Given the description of an element on the screen output the (x, y) to click on. 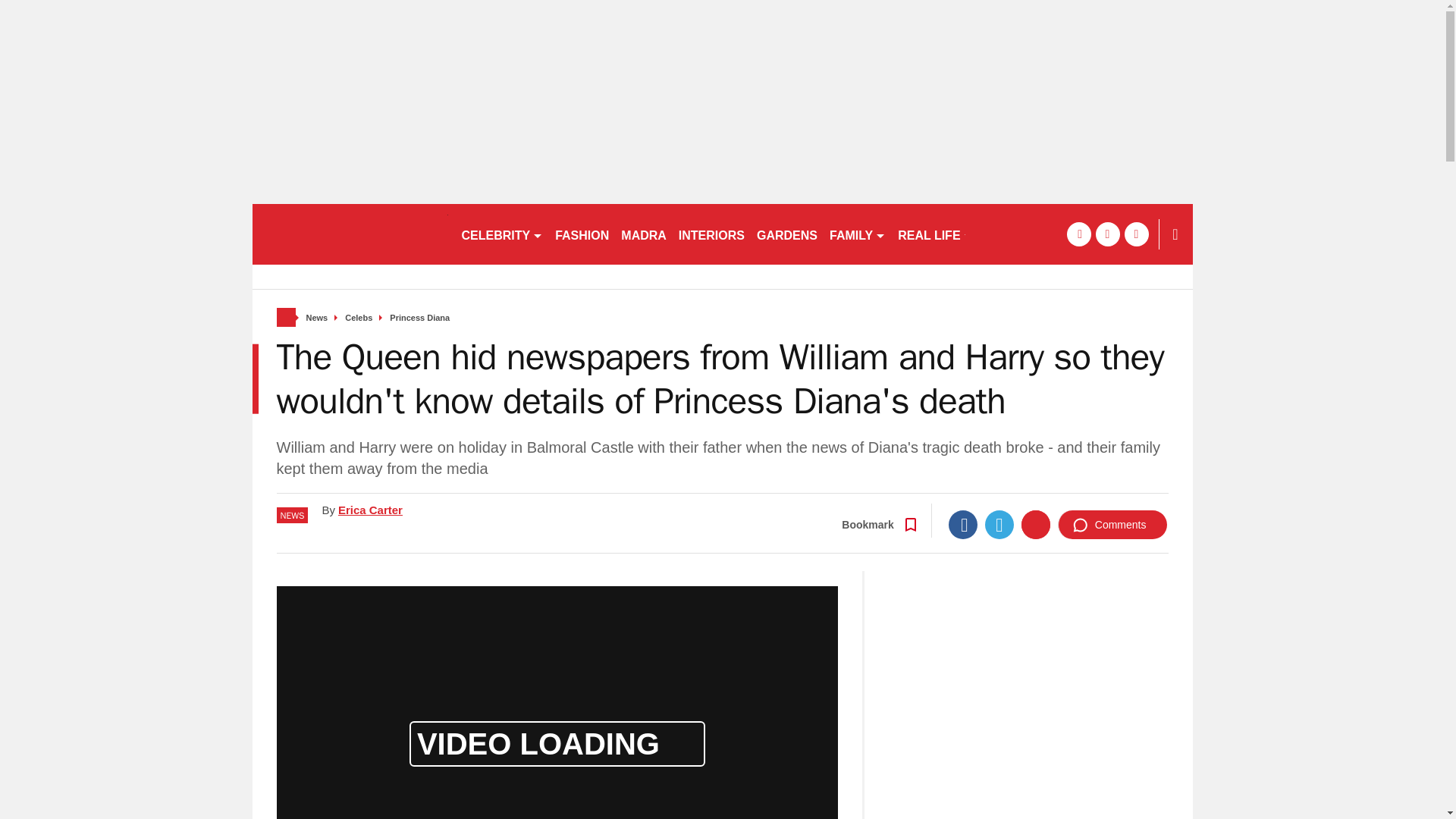
instagram (1136, 233)
facebook (1077, 233)
CELEBRITY (501, 233)
Comments (1112, 524)
rsvp (348, 233)
MADRA (643, 233)
Facebook (962, 524)
twitter (1106, 233)
INTERIORS (711, 233)
REAL LIFE (934, 233)
